Given the description of an element on the screen output the (x, y) to click on. 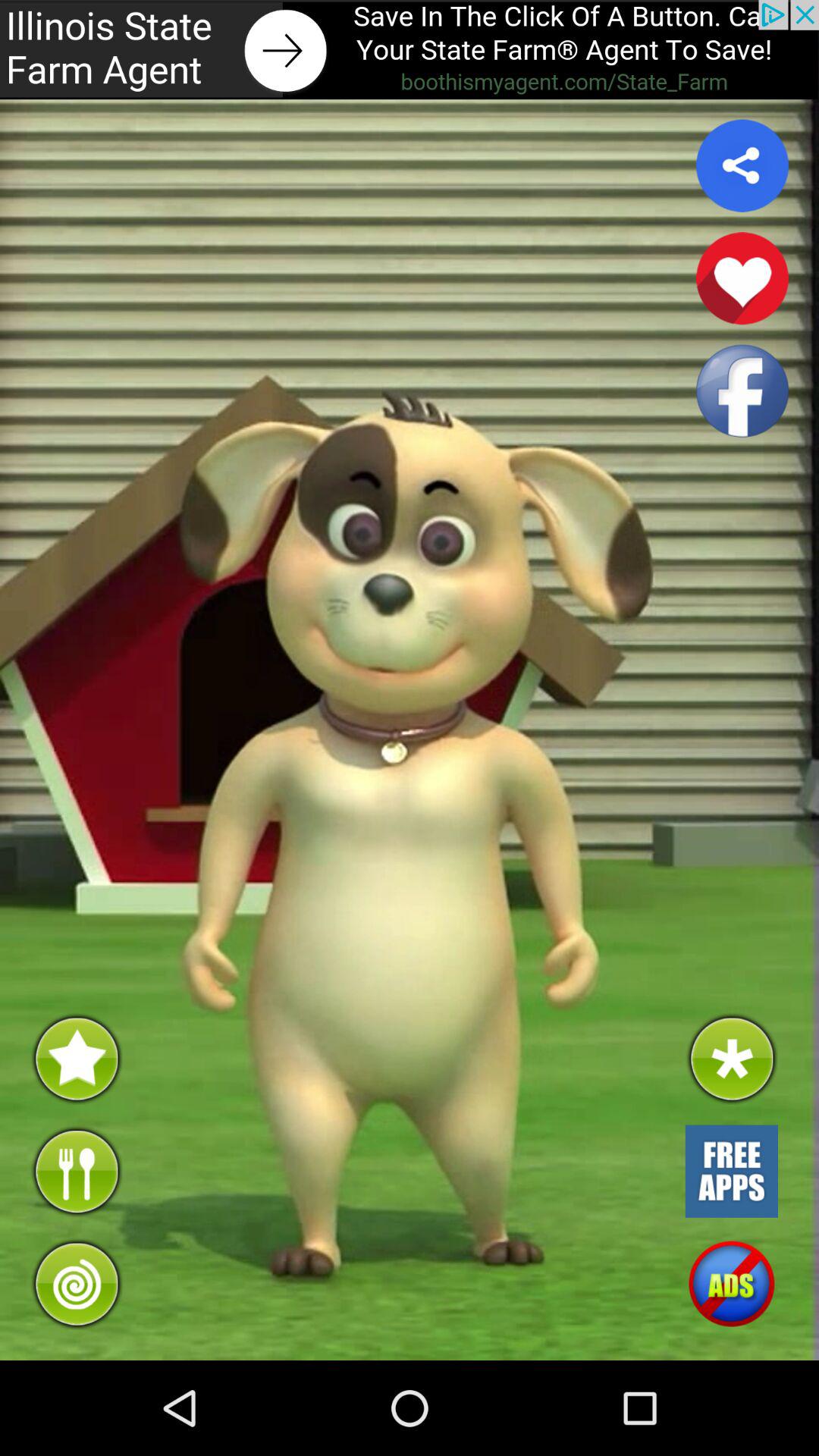
feed the dog (76, 1170)
